Given the description of an element on the screen output the (x, y) to click on. 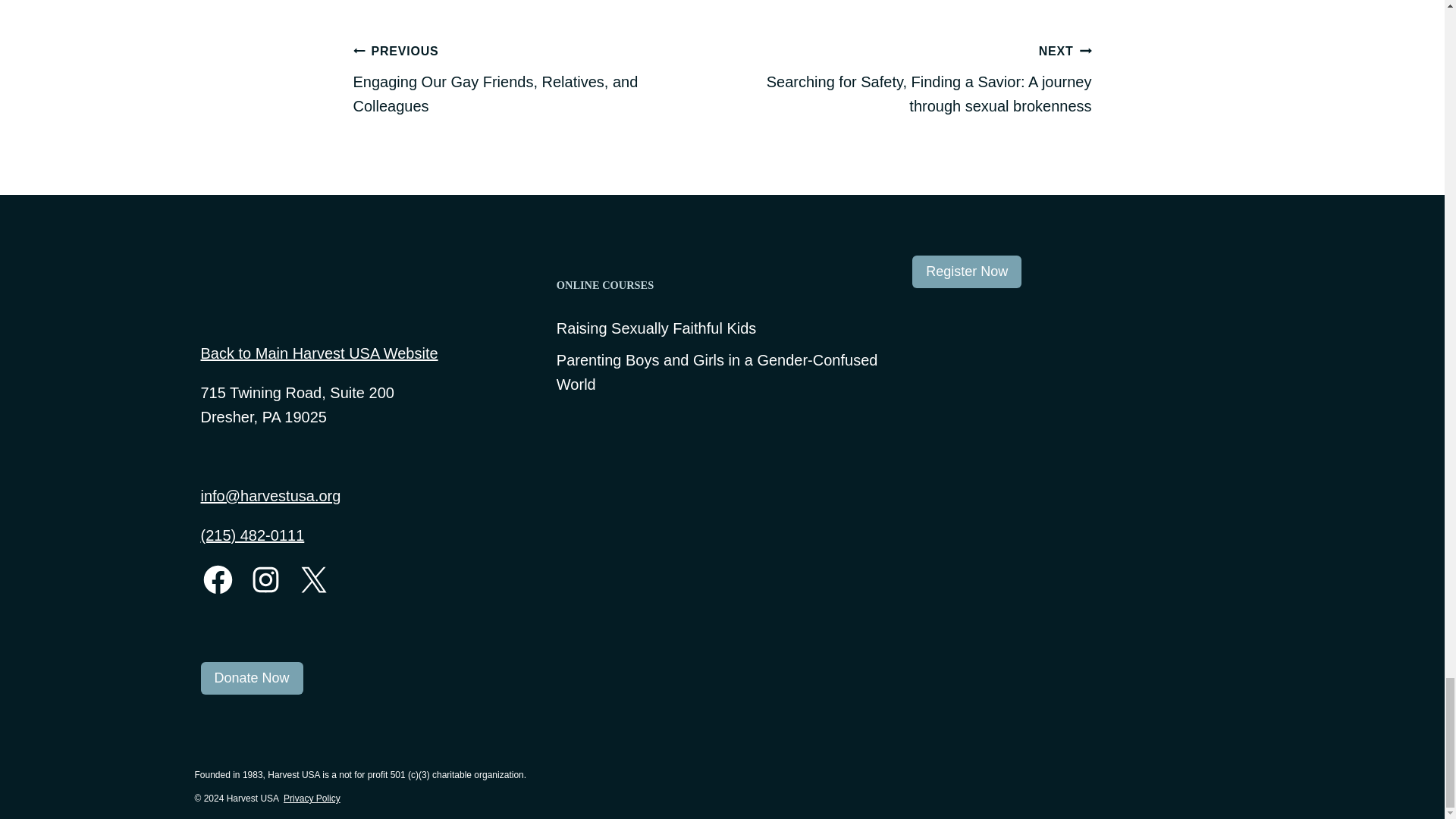
Follow Harvest USA on Facebook (217, 579)
Privacy Policy (311, 798)
Register Now (967, 271)
Raising Sexually Faithful Kids (655, 328)
Parenting Boys and Girls in a Gender-Confused World (722, 372)
ONLINE COURSES (722, 285)
Follow Harvest USA on Instagram (265, 579)
Donate Now (251, 677)
Back to Main Harvest USA Website (319, 352)
